Given the description of an element on the screen output the (x, y) to click on. 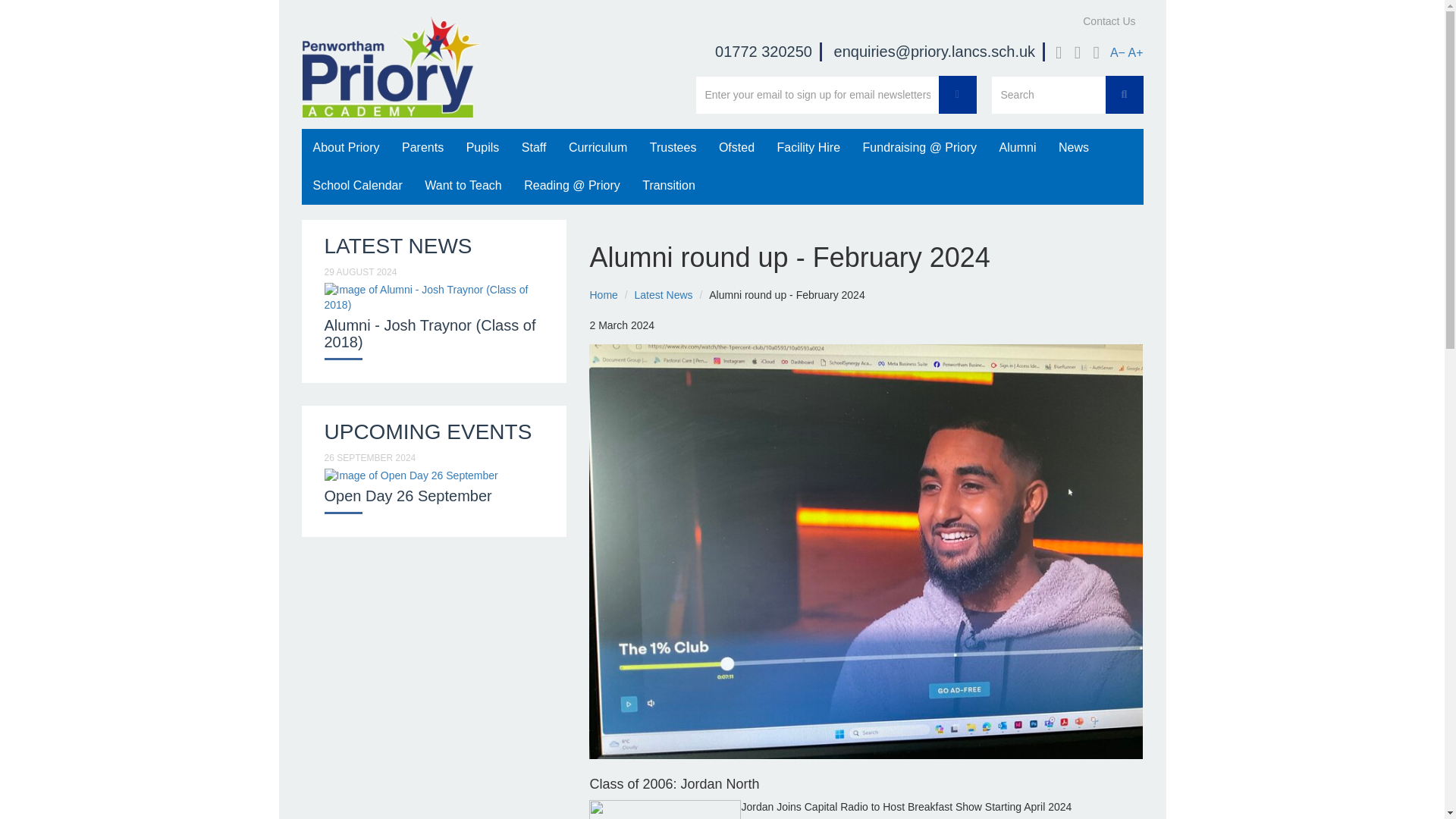
About Priory (346, 147)
Ofsted (736, 147)
Facility Hire (808, 147)
News (1073, 147)
Transition (668, 185)
Contact Us (1108, 21)
School Calendar (357, 185)
Staff (534, 147)
Latest News (663, 295)
Pupils (482, 147)
